Given the description of an element on the screen output the (x, y) to click on. 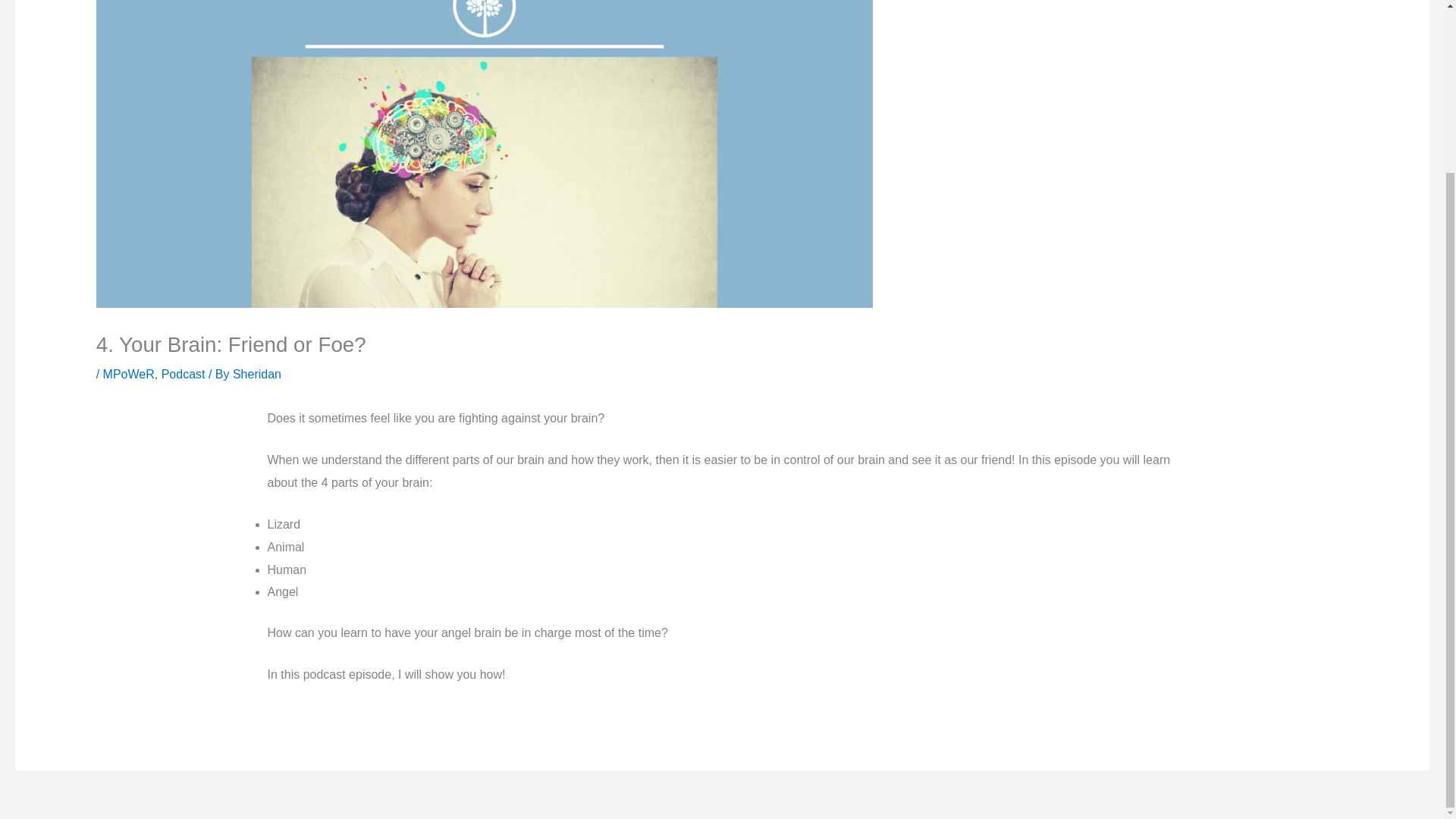
Podcast (183, 373)
View all posts by Sheridan (256, 373)
Sheridan (256, 373)
MPoWeR (128, 373)
